Given the description of an element on the screen output the (x, y) to click on. 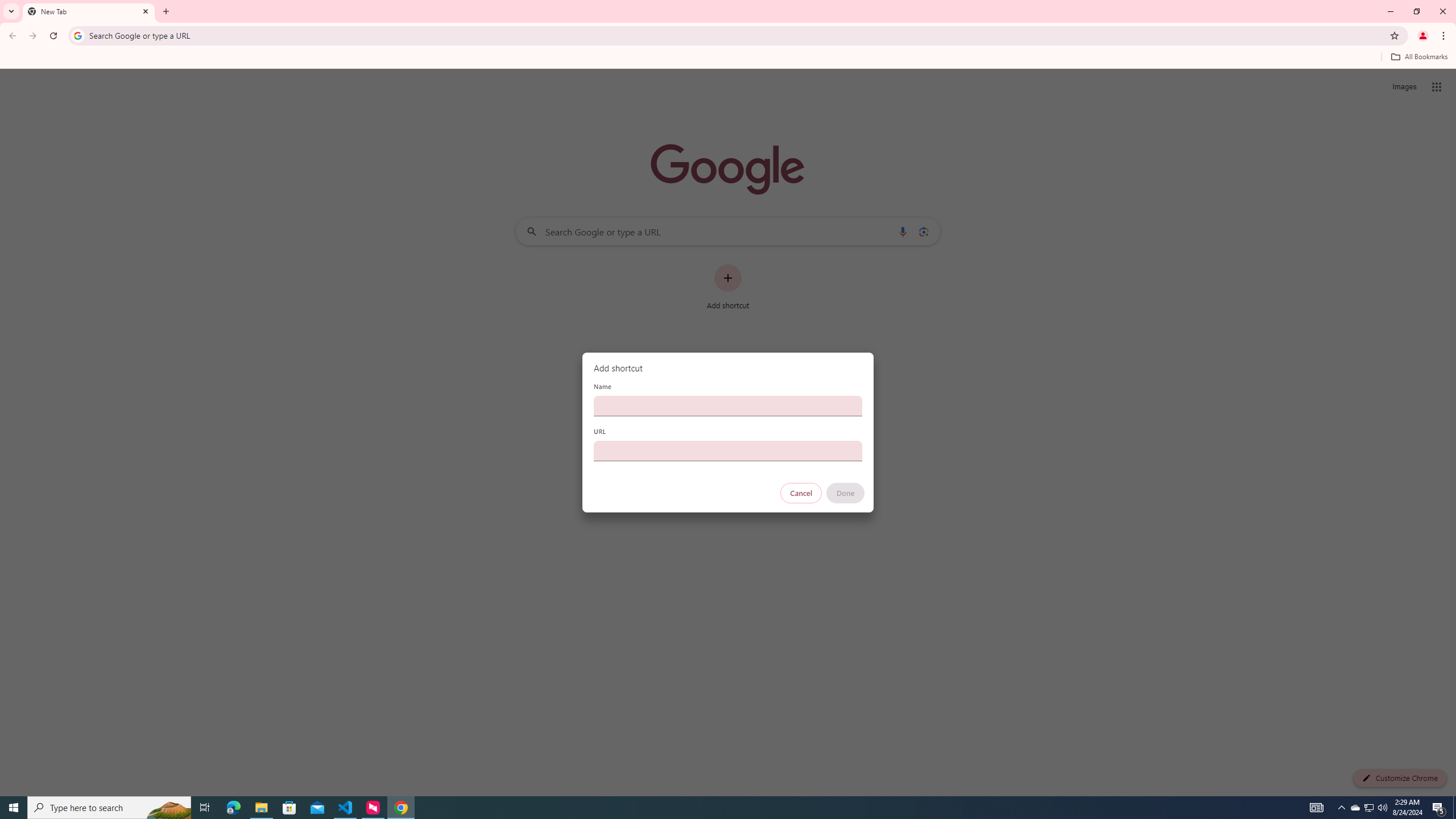
New Tab (88, 11)
Cancel (801, 493)
URL (727, 450)
Name (727, 405)
